Given the description of an element on the screen output the (x, y) to click on. 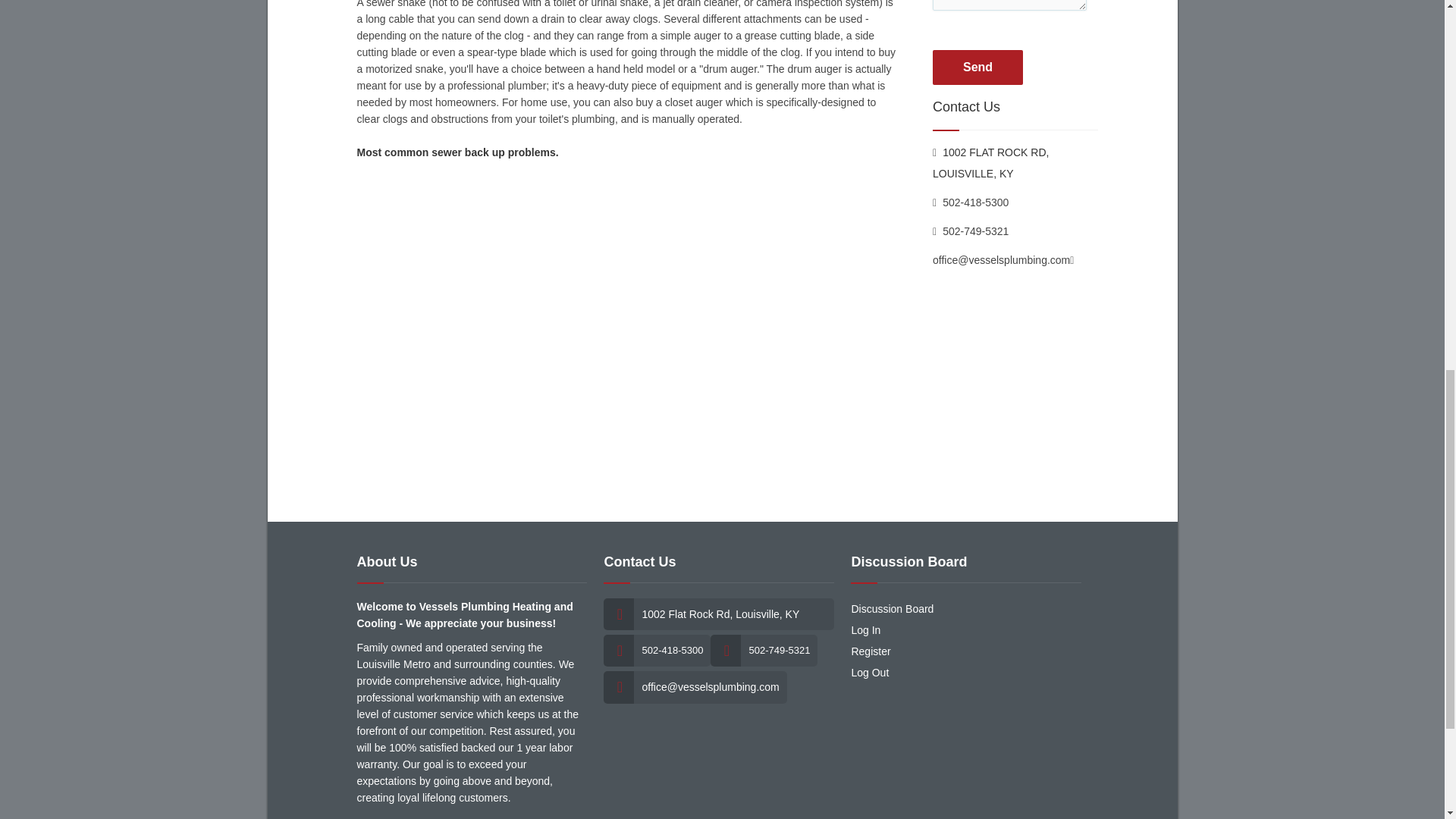
Send (978, 67)
Discussion Board (891, 608)
Send (978, 67)
